Given the description of an element on the screen output the (x, y) to click on. 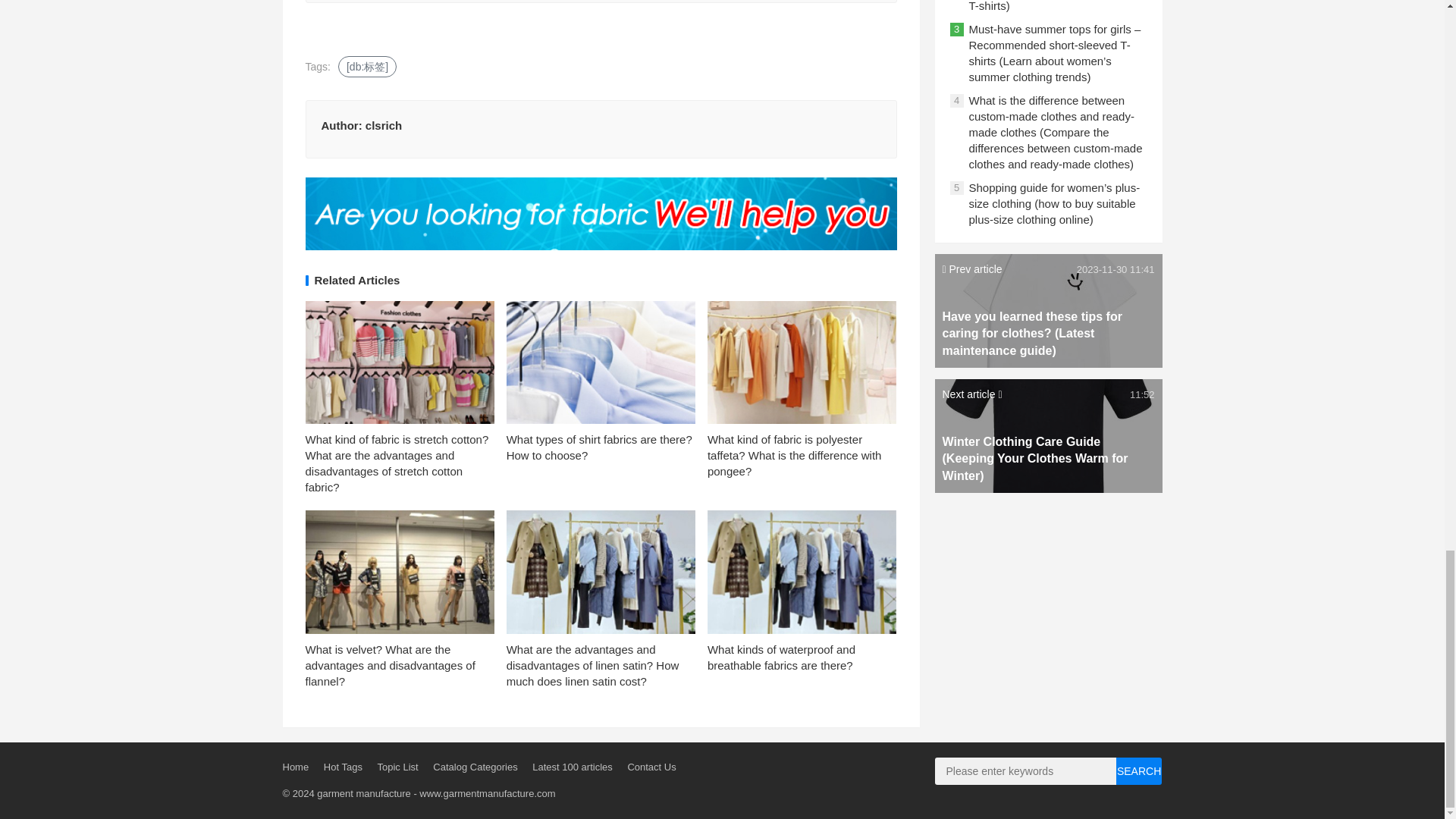
What types of shirt fabrics are there? How to choose? (599, 447)
What kinds of waterproof and breathable fabrics are there? (781, 656)
clsrich (383, 124)
